Given the description of an element on the screen output the (x, y) to click on. 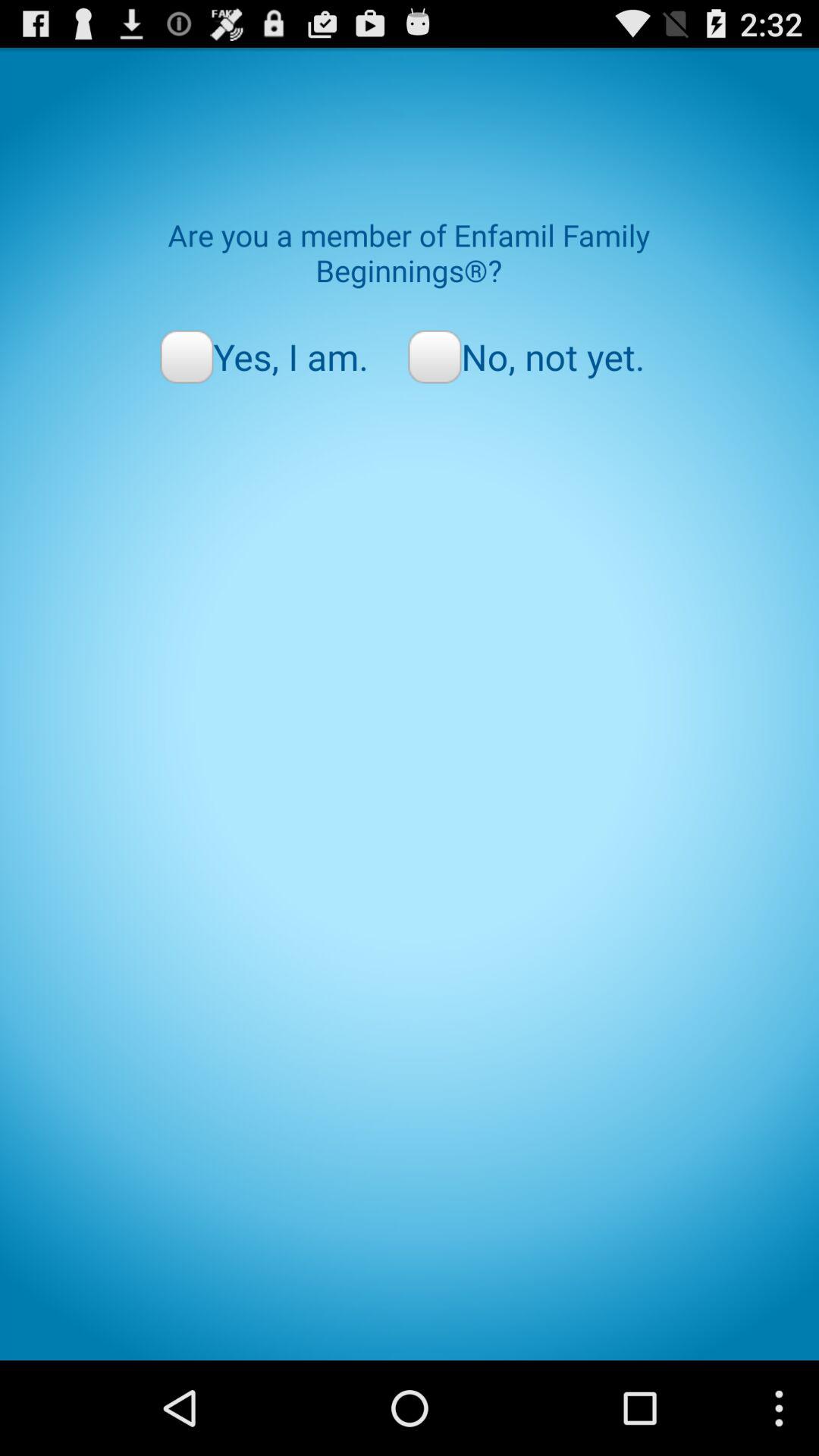
turn on the icon below are you a icon (526, 356)
